Given the description of an element on the screen output the (x, y) to click on. 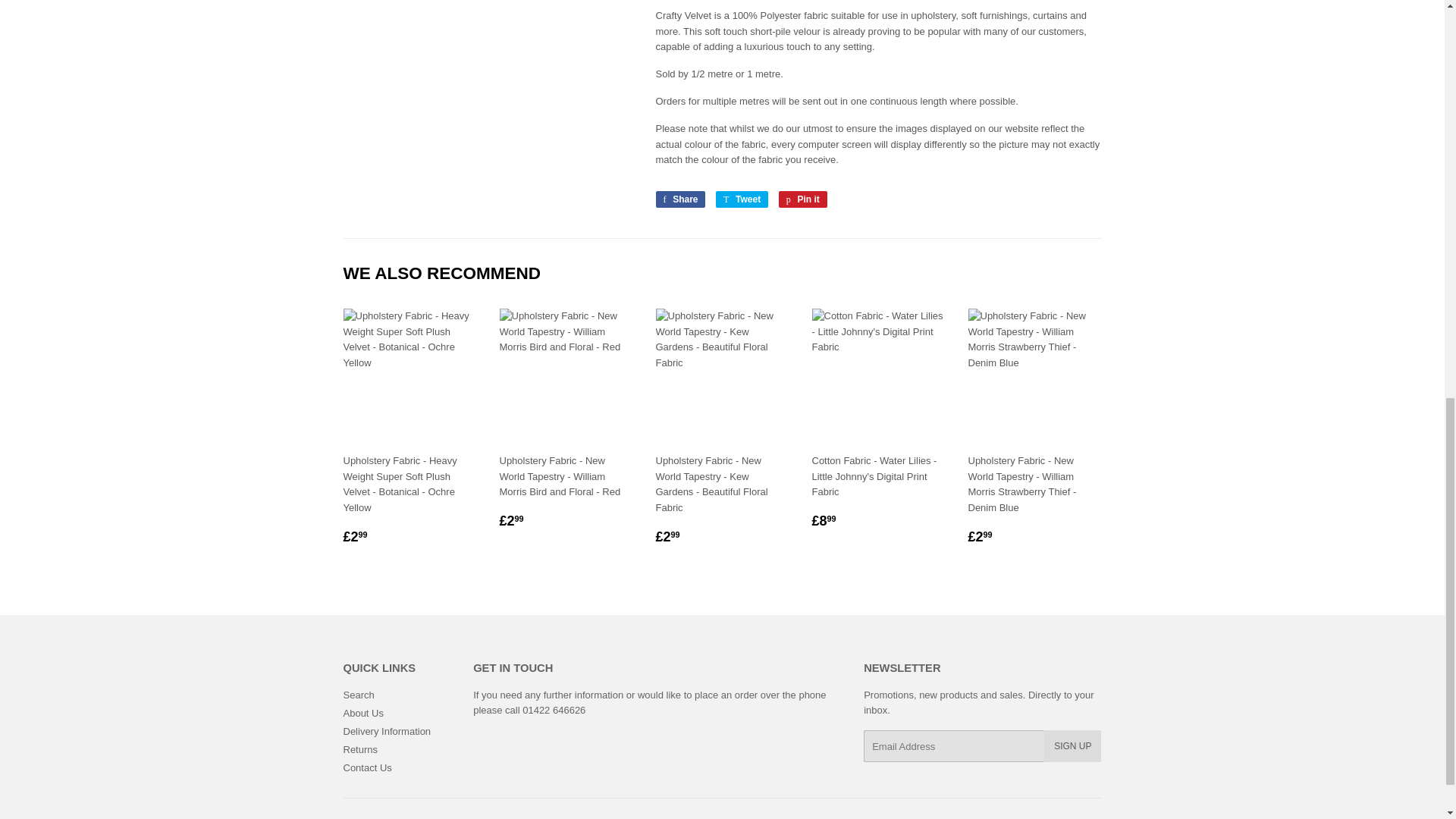
Pin on Pinterest (802, 199)
Tweet on Twitter (742, 199)
Share on Facebook (679, 199)
